Given the description of an element on the screen output the (x, y) to click on. 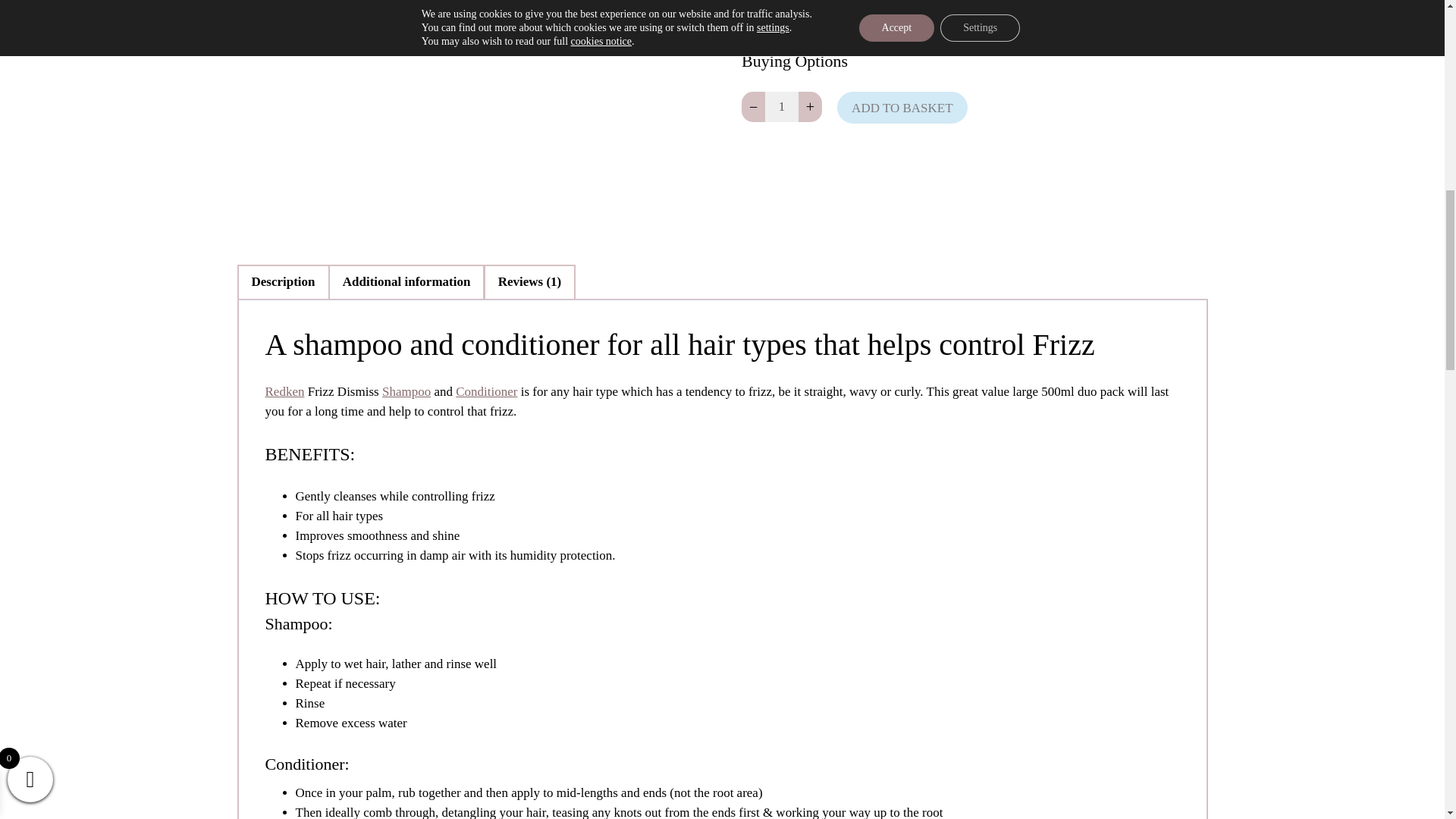
1 (781, 106)
